Given the description of an element on the screen output the (x, y) to click on. 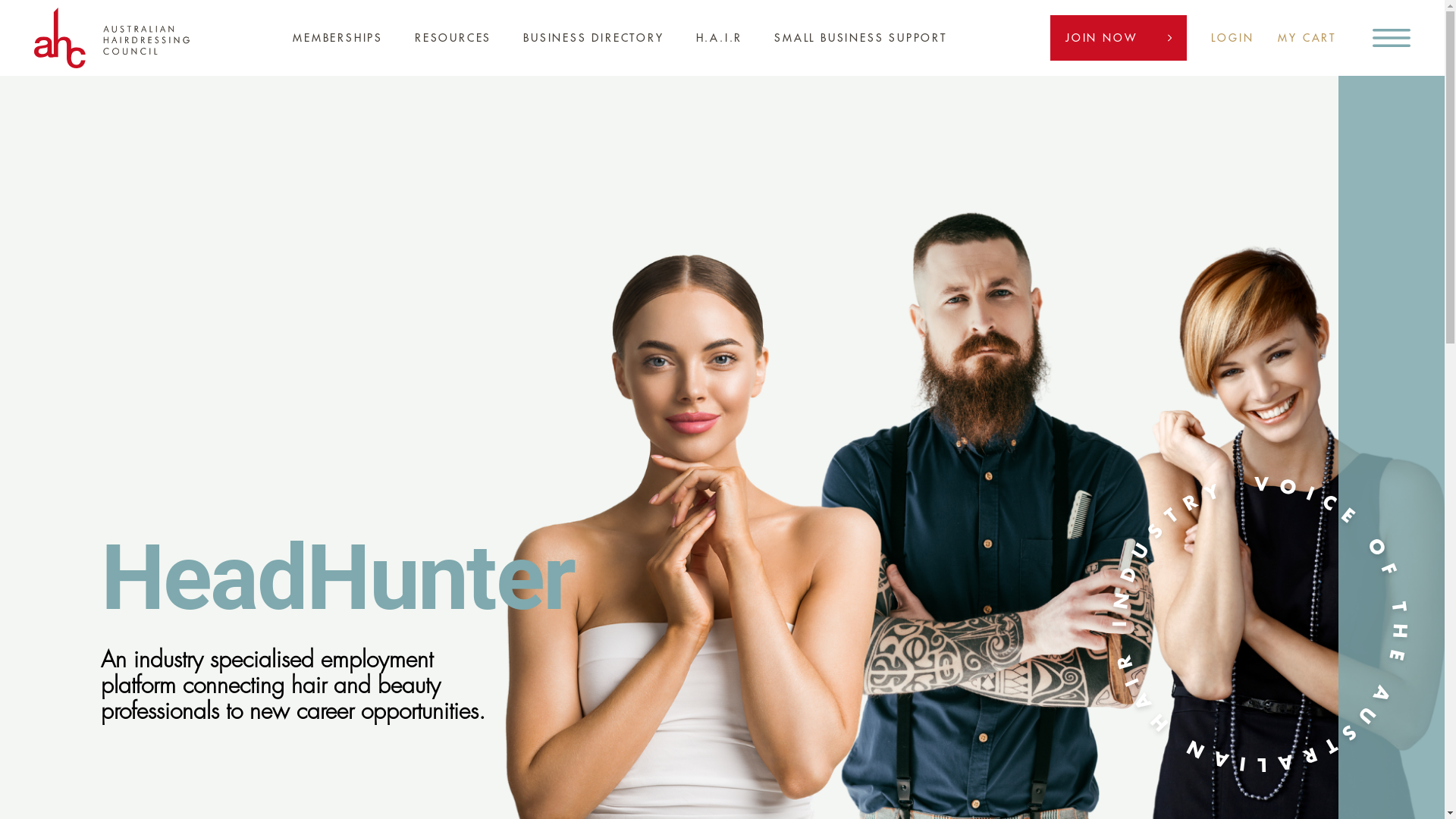
BUSINESS DIRECTORY Element type: text (593, 37)
H.A.I.R Element type: text (719, 37)
MEMBERSHIPS Element type: text (337, 37)
MY CART Element type: text (1306, 37)
JOIN NOW Element type: text (1118, 37)
SMALL BUSINESS SUPPORT Element type: text (860, 37)
RESOURCES Element type: text (452, 37)
LOGIN Element type: text (1232, 37)
